Given the description of an element on the screen output the (x, y) to click on. 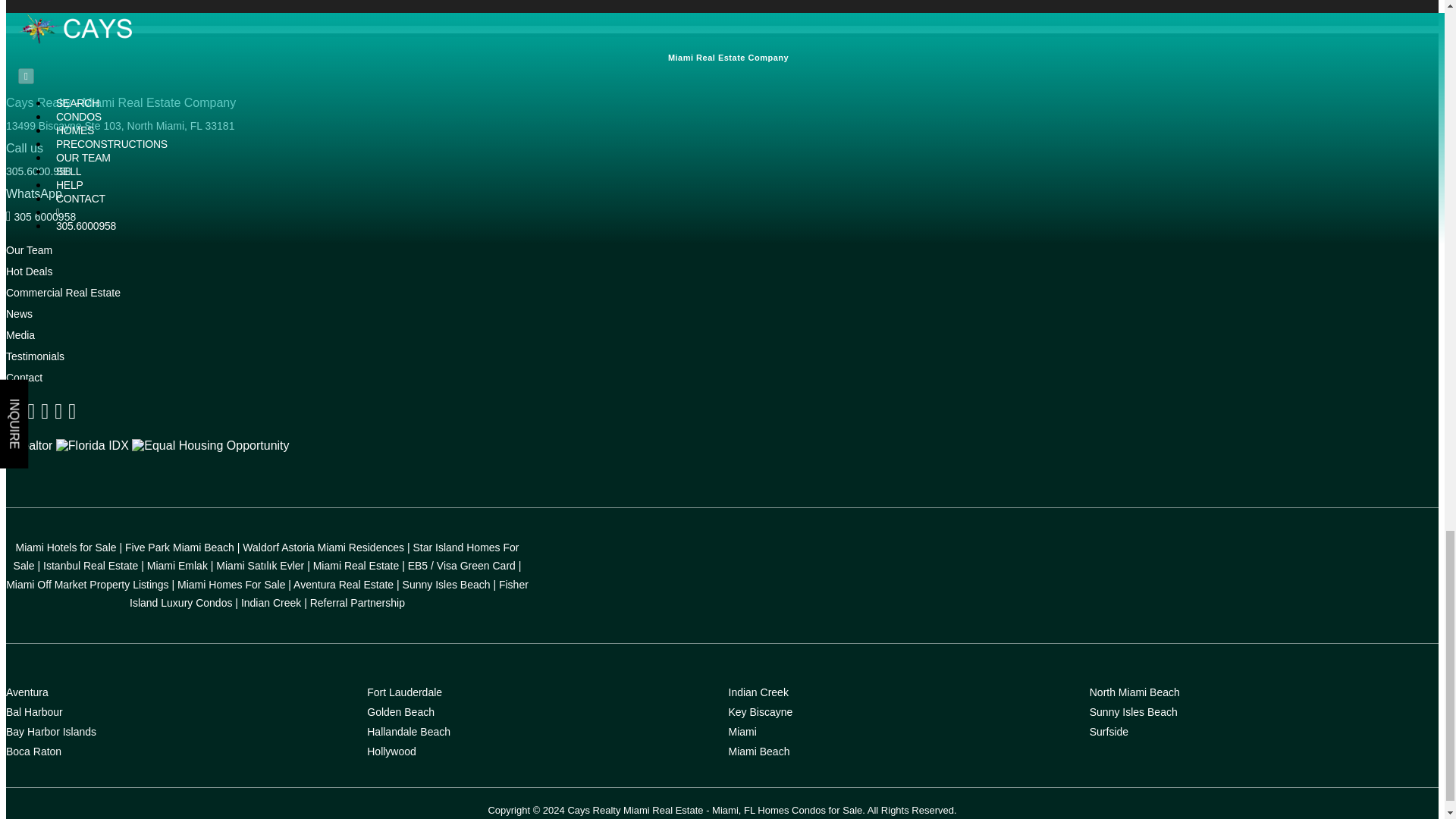
News (18, 313)
Our Team (28, 250)
Ashley Iaconetti and Jared Haibon Buy RI Home (658, 62)
Media (19, 335)
Our Team (28, 250)
Hot Deals (28, 271)
Commercial Real Estate (62, 292)
305 6000958 (40, 216)
